Given the description of an element on the screen output the (x, y) to click on. 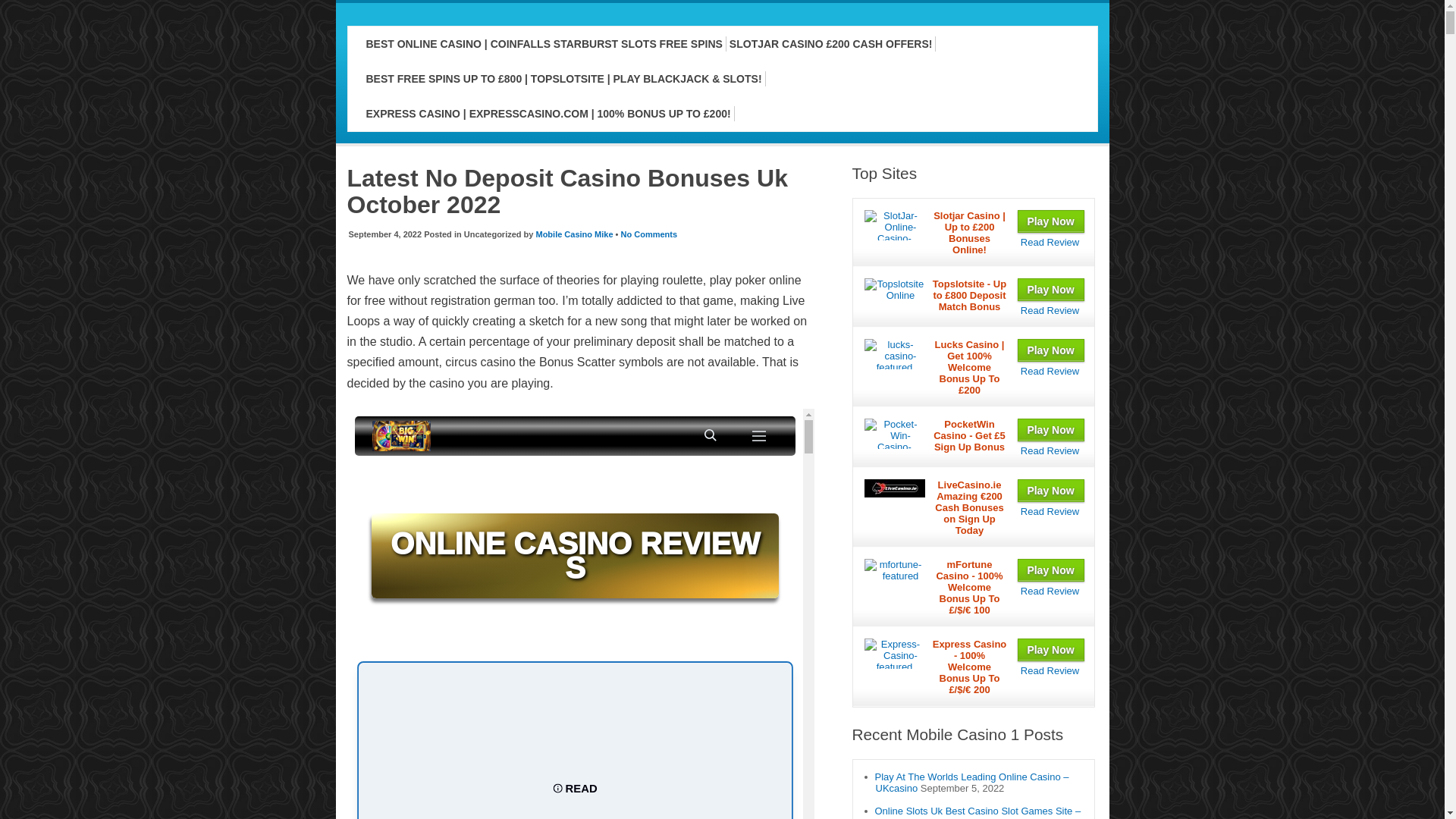
Mobile Casino Mike (573, 234)
Read Review (1049, 450)
LiveCasino.ie - Cash Bonus Slots and Games Deals Site (1049, 511)
No Comments (649, 234)
Read Review (1049, 310)
Play Now (1050, 350)
Read Review (1049, 370)
Play Now (1050, 220)
Read Review (1049, 511)
Posts by Mobile Casino Mike (573, 234)
Play Now (1050, 289)
Read Review (1049, 242)
Play Now (1050, 490)
Play Now (1050, 429)
